Given the description of an element on the screen output the (x, y) to click on. 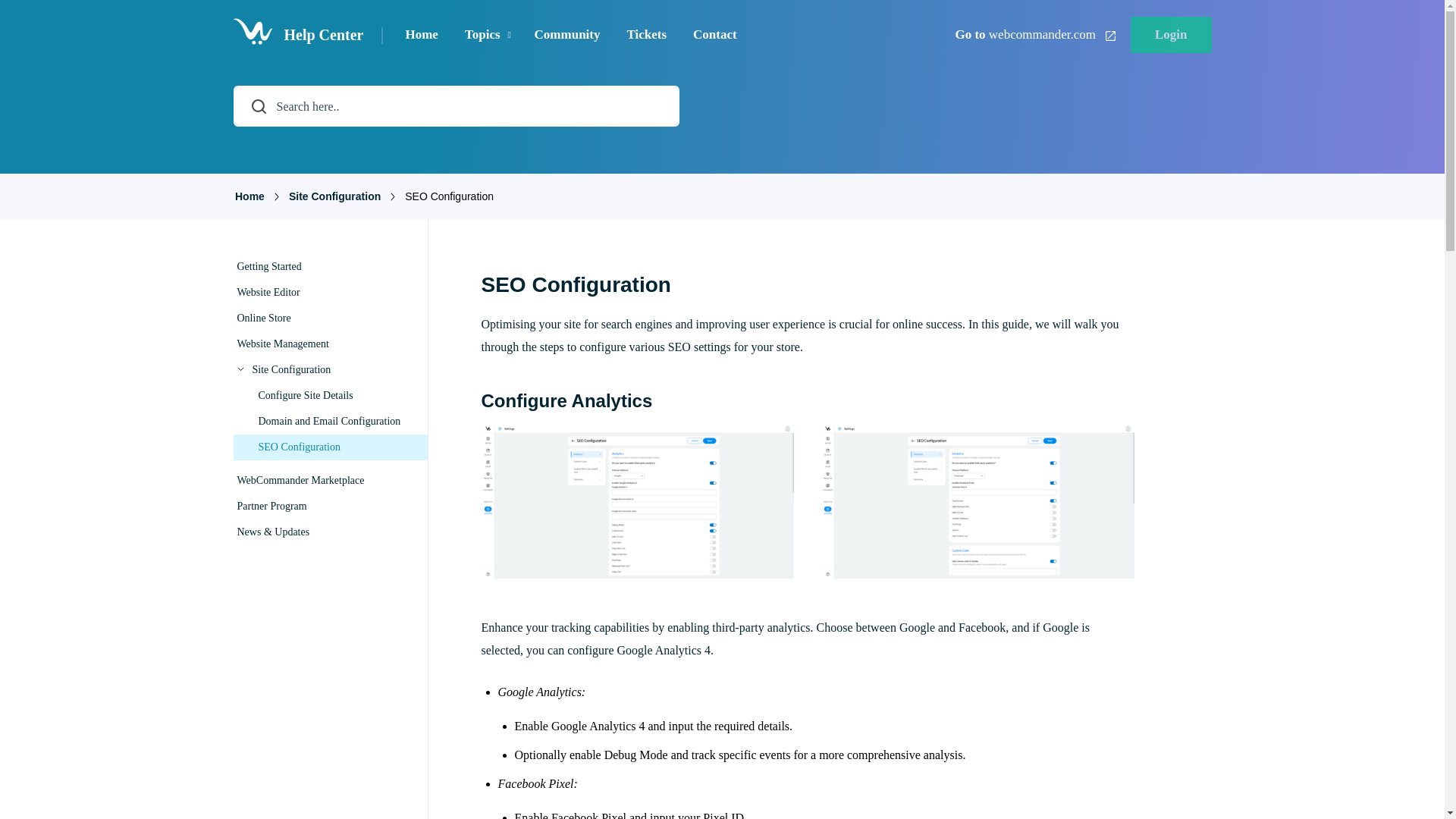
Home (249, 196)
Go to webcommander.com (1035, 34)
Tickets (646, 34)
Website Editor (327, 292)
Topics (482, 34)
Getting Started (327, 266)
Login (1171, 34)
Home (420, 34)
Site Configuration (334, 196)
Community (566, 34)
Contact (714, 34)
